Given the description of an element on the screen output the (x, y) to click on. 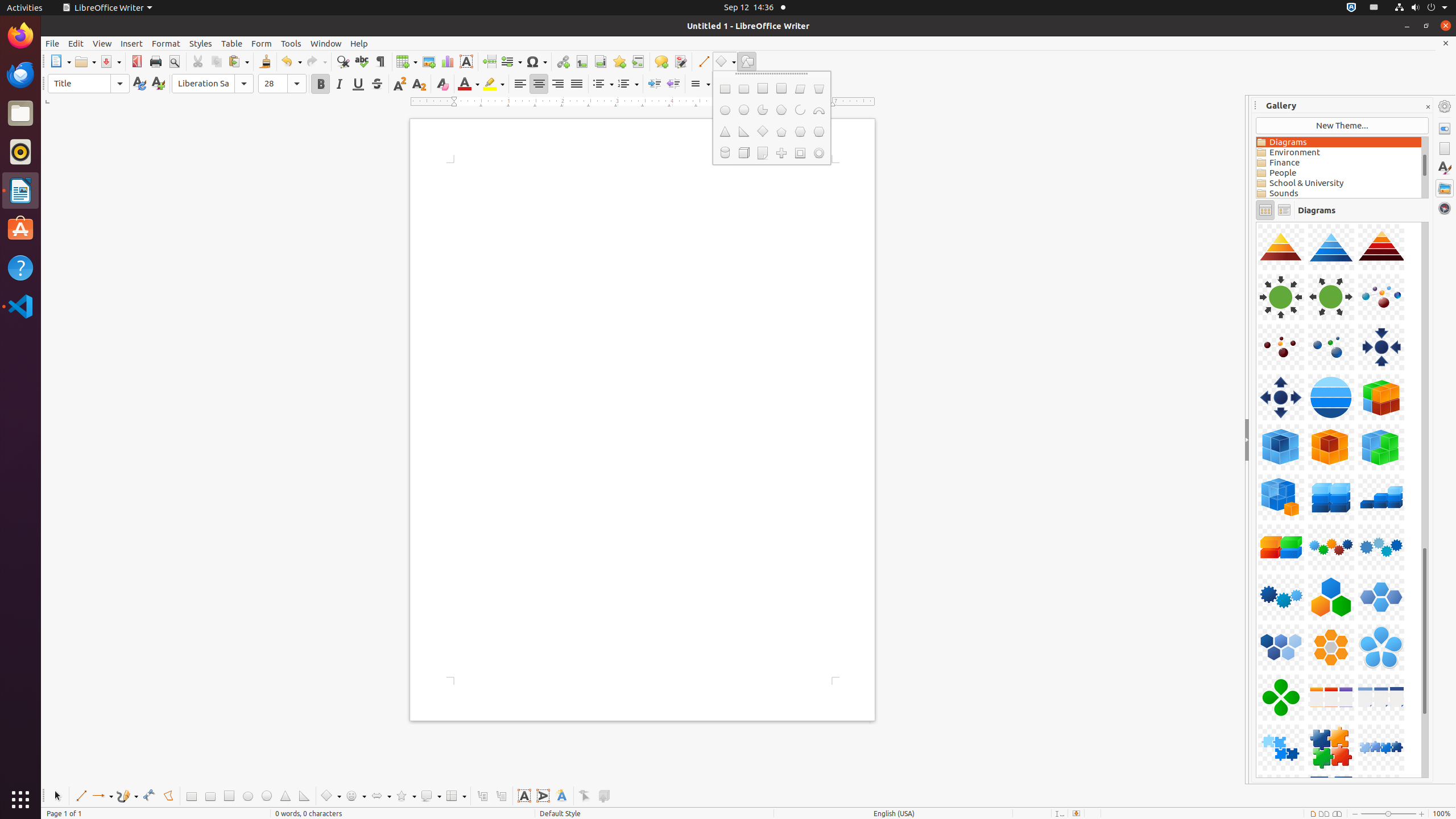
Vertical Text Element type: toggle-button (542, 795)
View Element type: menu (102, 43)
Clear Element type: push-button (441, 83)
Component-Cube04-Orange Element type: list-item (1256, 222)
Text Box Element type: push-button (523, 795)
